Given the description of an element on the screen output the (x, y) to click on. 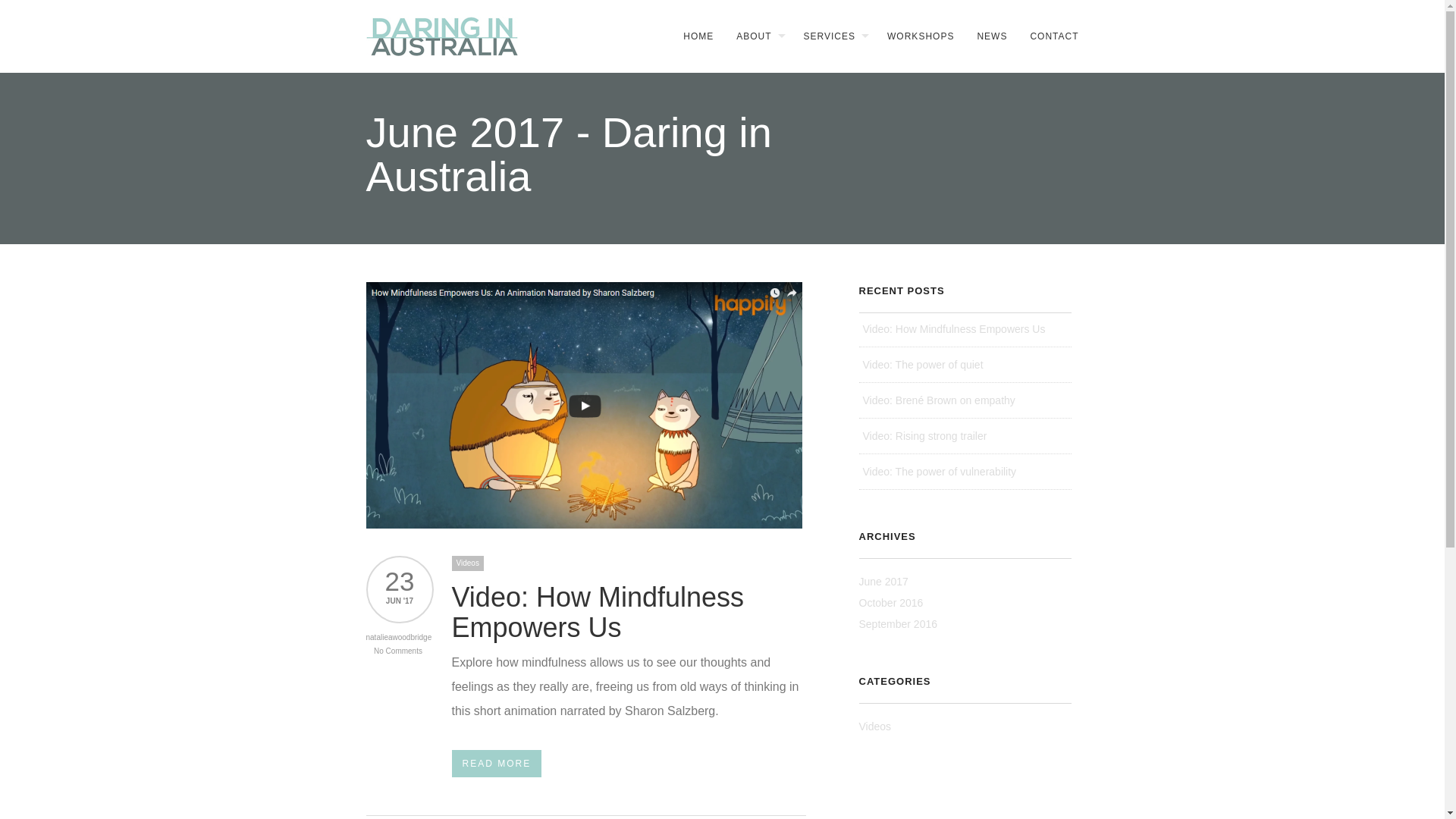
WORKSHOPS Element type: text (914, 36)
No Comments Element type: text (397, 650)
READ MORE Element type: text (496, 763)
Videos Element type: text (467, 563)
Video: Rising strong trailer Element type: text (964, 436)
Video: The power of quiet Element type: text (964, 364)
Video: How Mindfulness Empowers Us Element type: text (597, 612)
ABOUT Element type: text (752, 36)
September 2016 Element type: text (897, 624)
natalieawoodbridge Element type: text (398, 637)
Videos Element type: text (874, 726)
HOME Element type: text (692, 36)
June 2017 Element type: text (882, 581)
Permanent Link to Video: How Mindfulness Empowers Us Element type: hover (583, 523)
SERVICES Element type: text (828, 36)
Video: How Mindfulness Empowers Us Element type: text (964, 329)
Video: The power of vulnerability Element type: text (964, 471)
October 2016 Element type: text (890, 602)
CONTACT Element type: text (1048, 36)
NEWS Element type: text (986, 36)
